Given the description of an element on the screen output the (x, y) to click on. 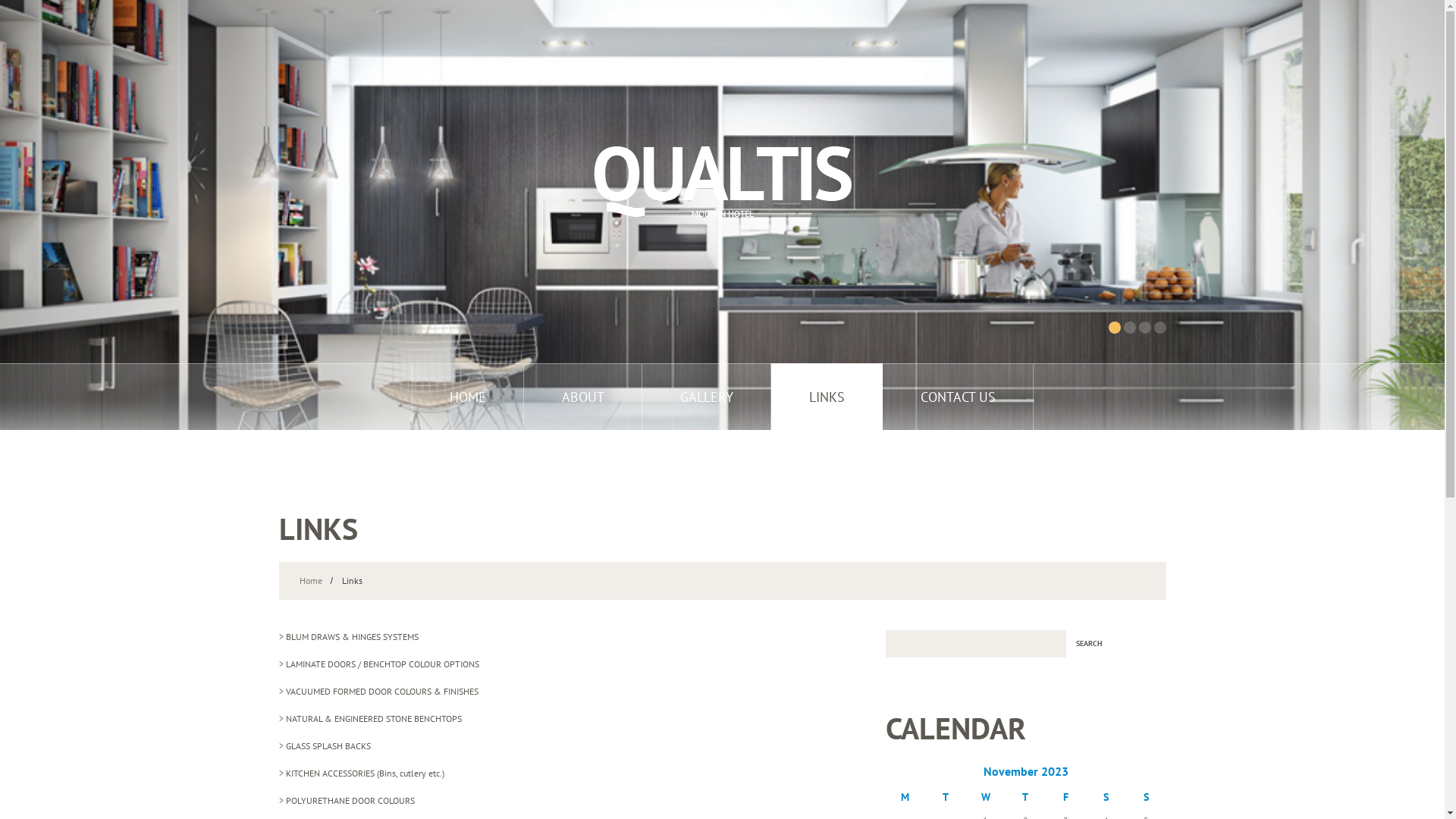
HOME Element type: text (467, 397)
ABOUT Element type: text (582, 397)
LINKS Element type: text (825, 397)
CONTACT US Element type: text (957, 397)
KITCHEN ACCESSORIES (Bins, cutlery etc.) Element type: text (364, 772)
Home Element type: text (309, 580)
Kitchens | Commercial Fitouts | Architectural Joinery Element type: hover (721, 181)
BLUM DRAWS & HINGES SYSTEMS Element type: text (351, 636)
GLASS SPLASH BACKS Element type: text (327, 745)
LAMINATE DOORS / BENCHTOP COLOUR OPTIONS Element type: text (381, 663)
search Element type: text (1088, 643)
GALLERY Element type: text (705, 397)
NATURAL & ENGINEERED STONE BENCHTOPS Element type: text (373, 718)
POLYURETHANE DOOR COLOURS Element type: text (349, 800)
VACUUMED FORMED DOOR COLOURS & FINISHES Element type: text (381, 690)
